Given the description of an element on the screen output the (x, y) to click on. 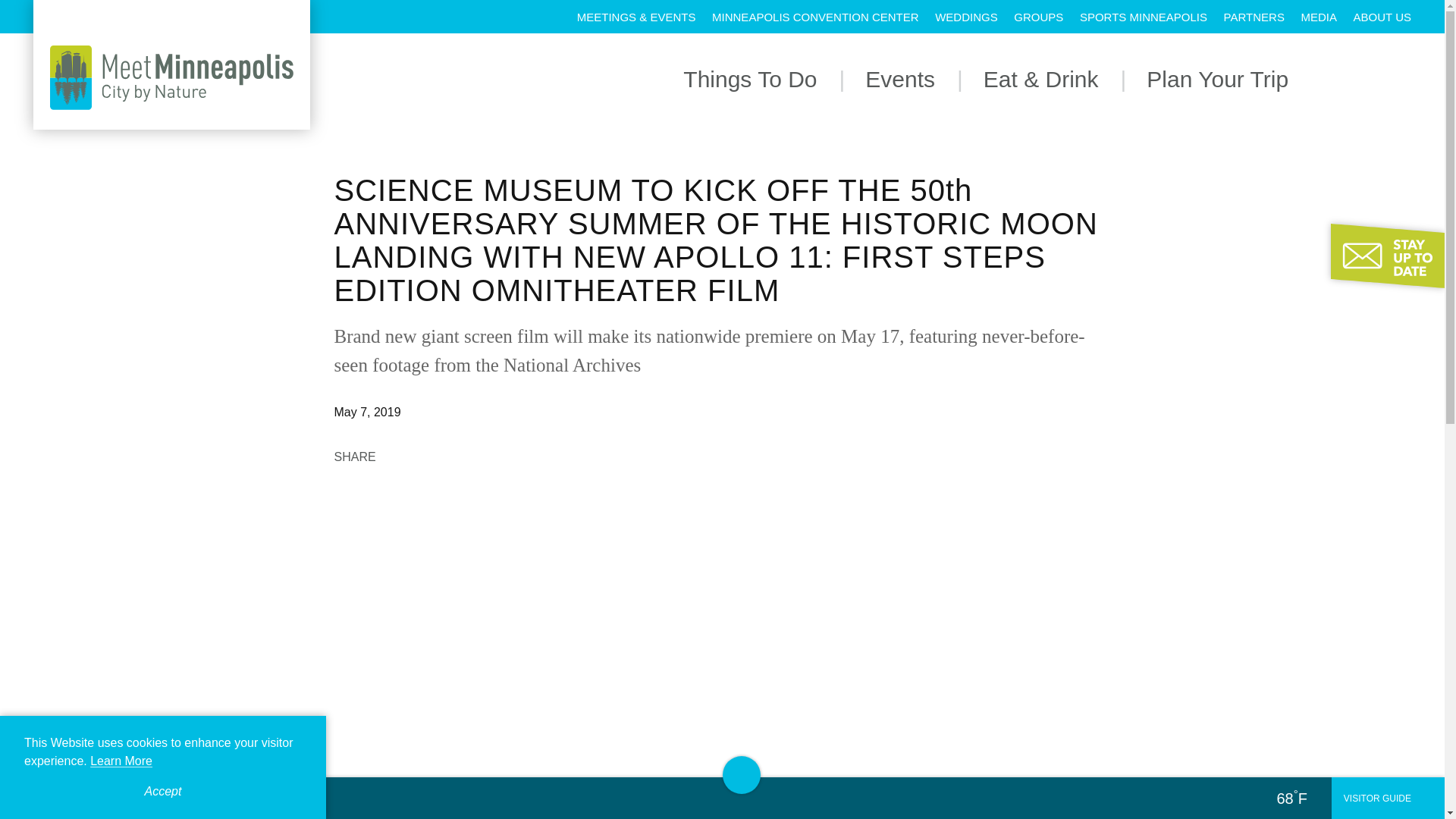
Share on Twitter (433, 455)
Live chat (1401, 752)
Share on Facebook (400, 455)
MEDIA (1318, 16)
GROUPS (1037, 16)
Events (899, 78)
Skip to content (17, 15)
Things To Do (749, 78)
MINNEAPOLIS CONVENTION CENTER (814, 16)
PARTNERS (1254, 16)
WEDDINGS (965, 16)
Plan Your Trip (1217, 78)
SPORTS MINNEAPOLIS (1143, 16)
Email this page (467, 455)
ABOUT US (1382, 16)
